Given the description of an element on the screen output the (x, y) to click on. 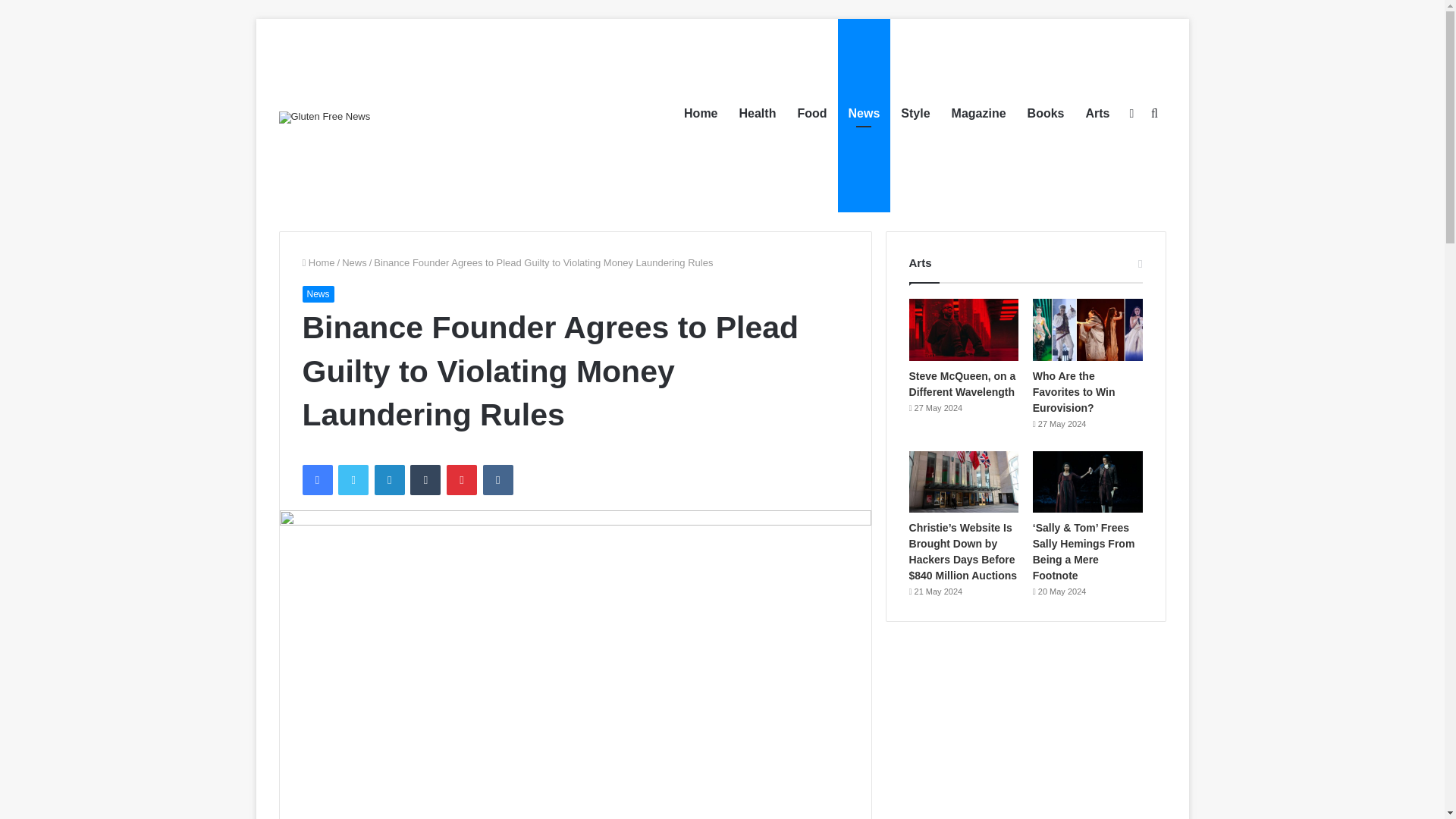
VKontakte (498, 480)
LinkedIn (389, 480)
Facebook (316, 480)
Tumblr (425, 480)
Twitter (352, 480)
Tumblr (425, 480)
Pinterest (461, 480)
LinkedIn (389, 480)
Facebook (316, 480)
News (317, 293)
Home (317, 262)
News (354, 262)
Twitter (352, 480)
Gluten Free News (325, 117)
Pinterest (461, 480)
